Given the description of an element on the screen output the (x, y) to click on. 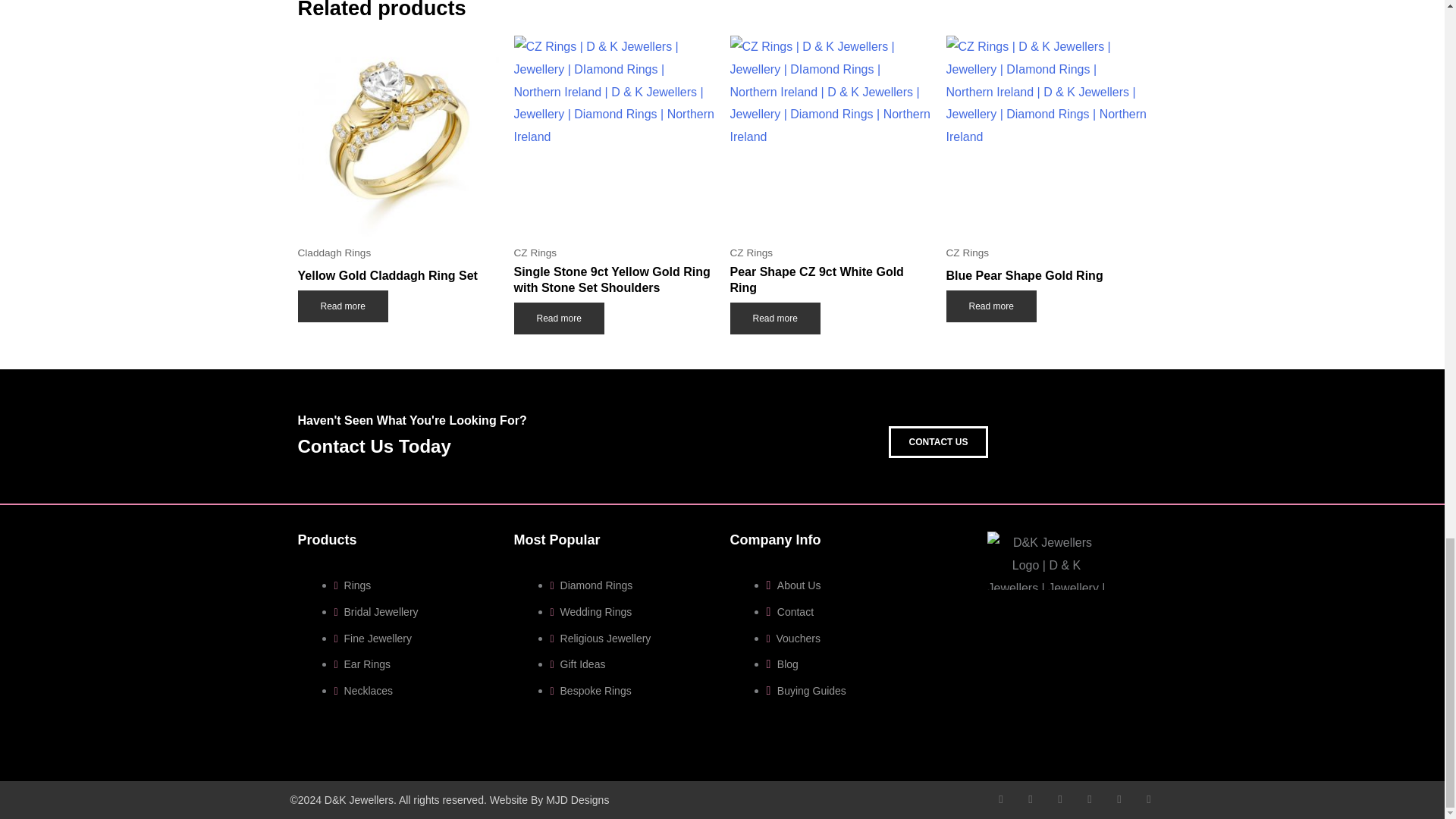
Single Stone 9ct Yellow Gold Ring with Stone Set Shoulders (613, 283)
Read more (342, 306)
Read more (558, 318)
Yellow Gold Claddagh Ring Set (397, 279)
